Given the description of an element on the screen output the (x, y) to click on. 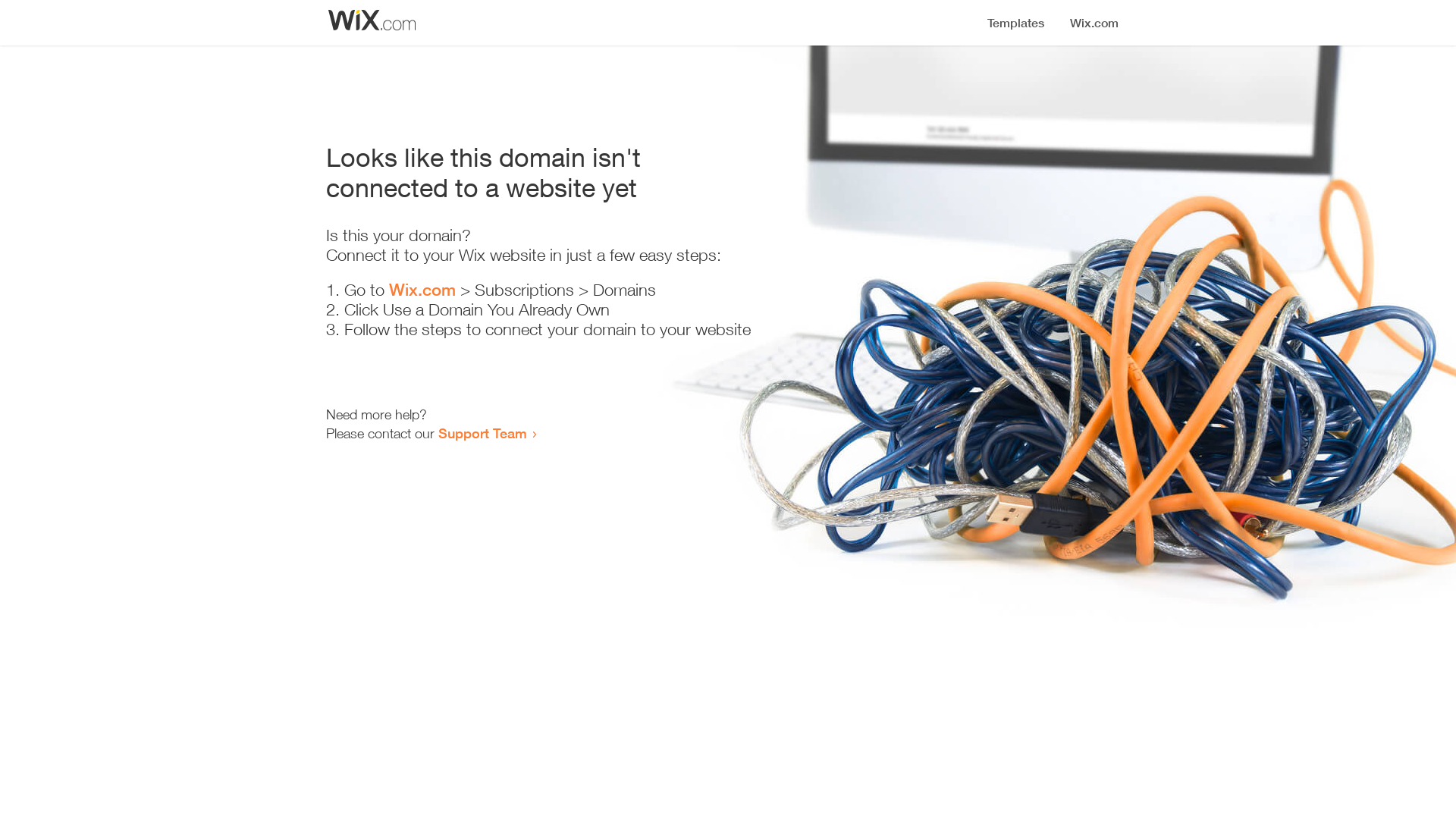
Wix.com Element type: text (422, 289)
Support Team Element type: text (482, 432)
